Given the description of an element on the screen output the (x, y) to click on. 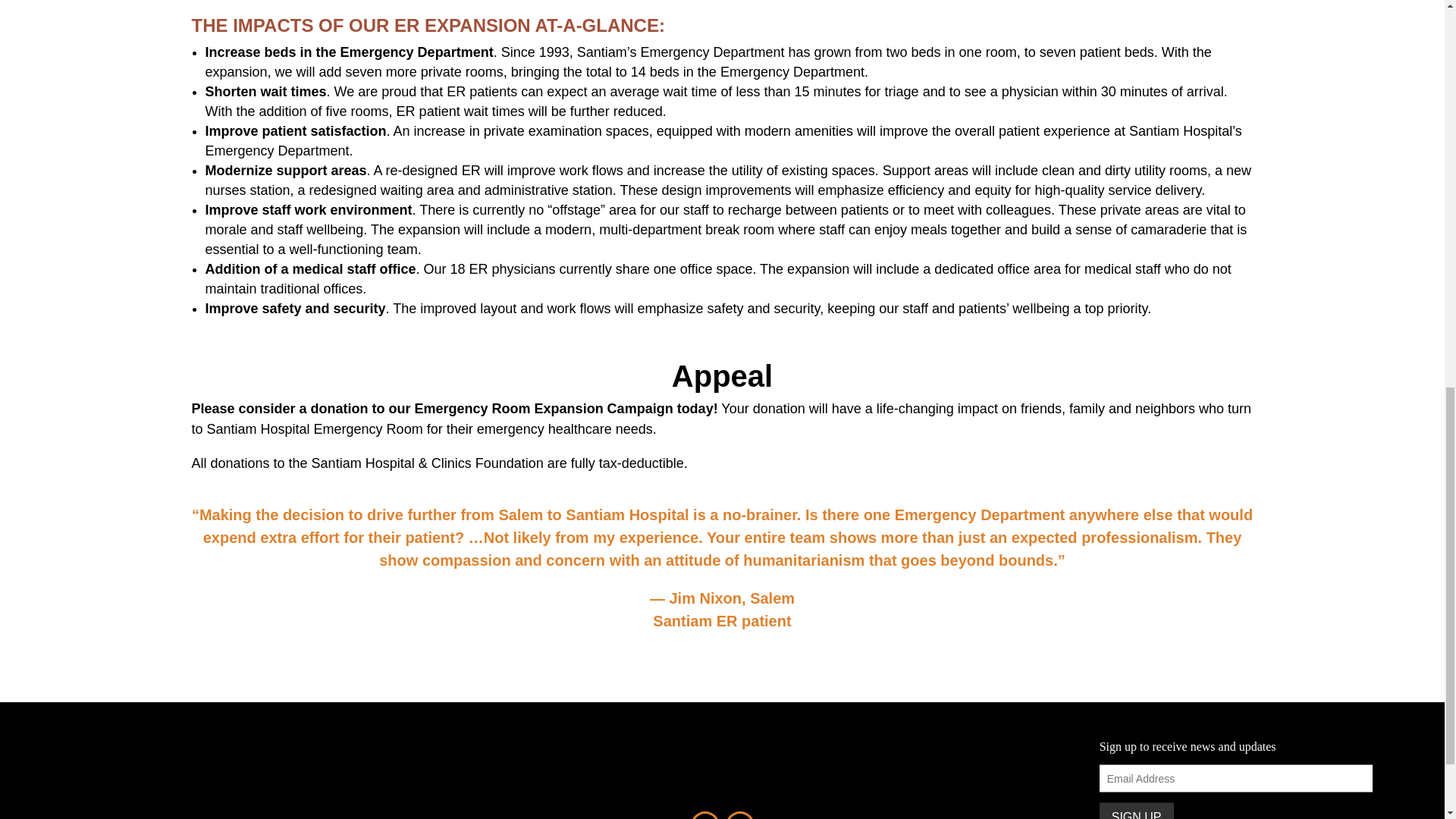
Sign Up (1136, 811)
Follow on Instagram (739, 815)
Follow on Facebook (704, 815)
